Given the description of an element on the screen output the (x, y) to click on. 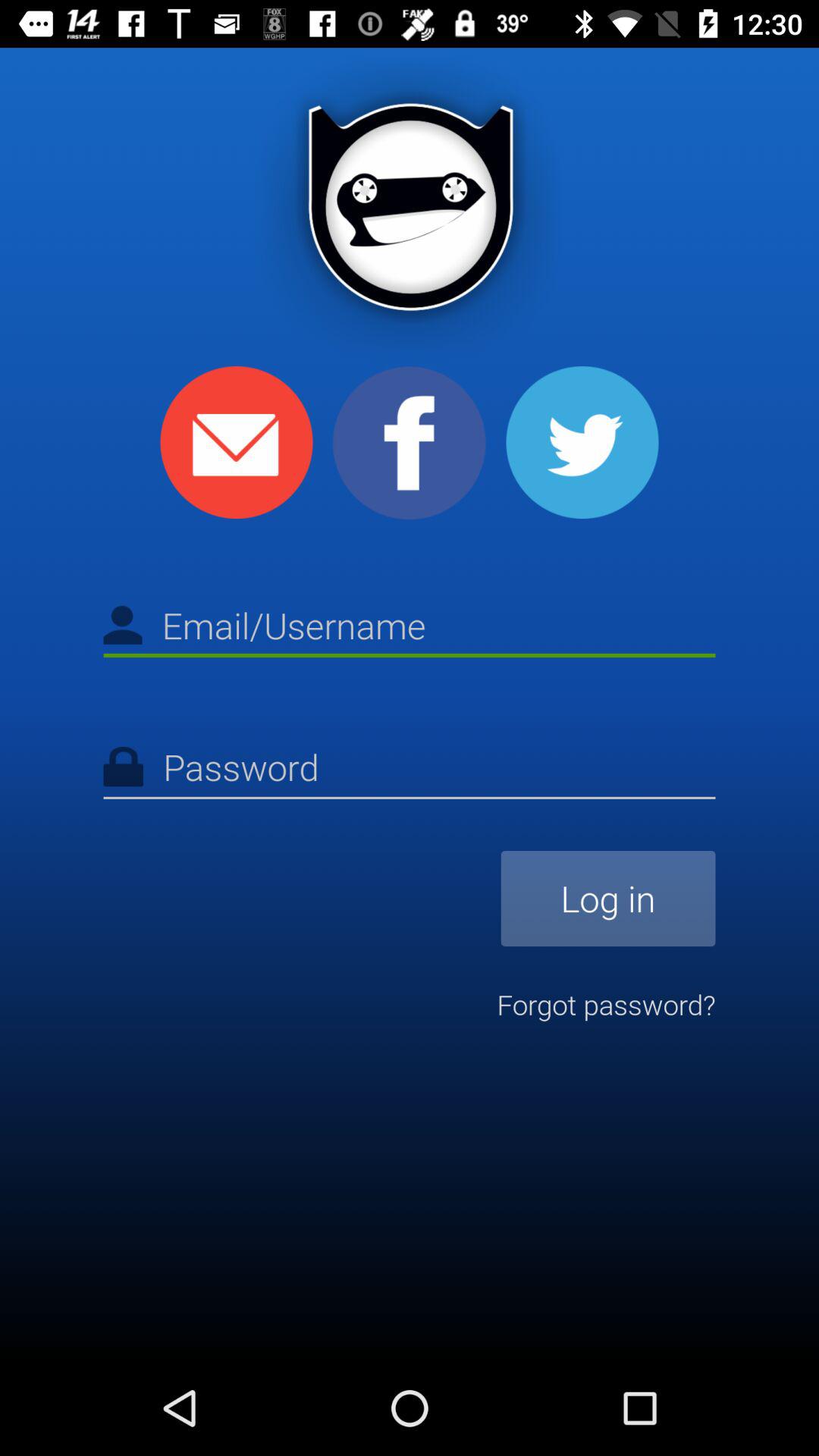
select icon below log in icon (606, 1004)
